Given the description of an element on the screen output the (x, y) to click on. 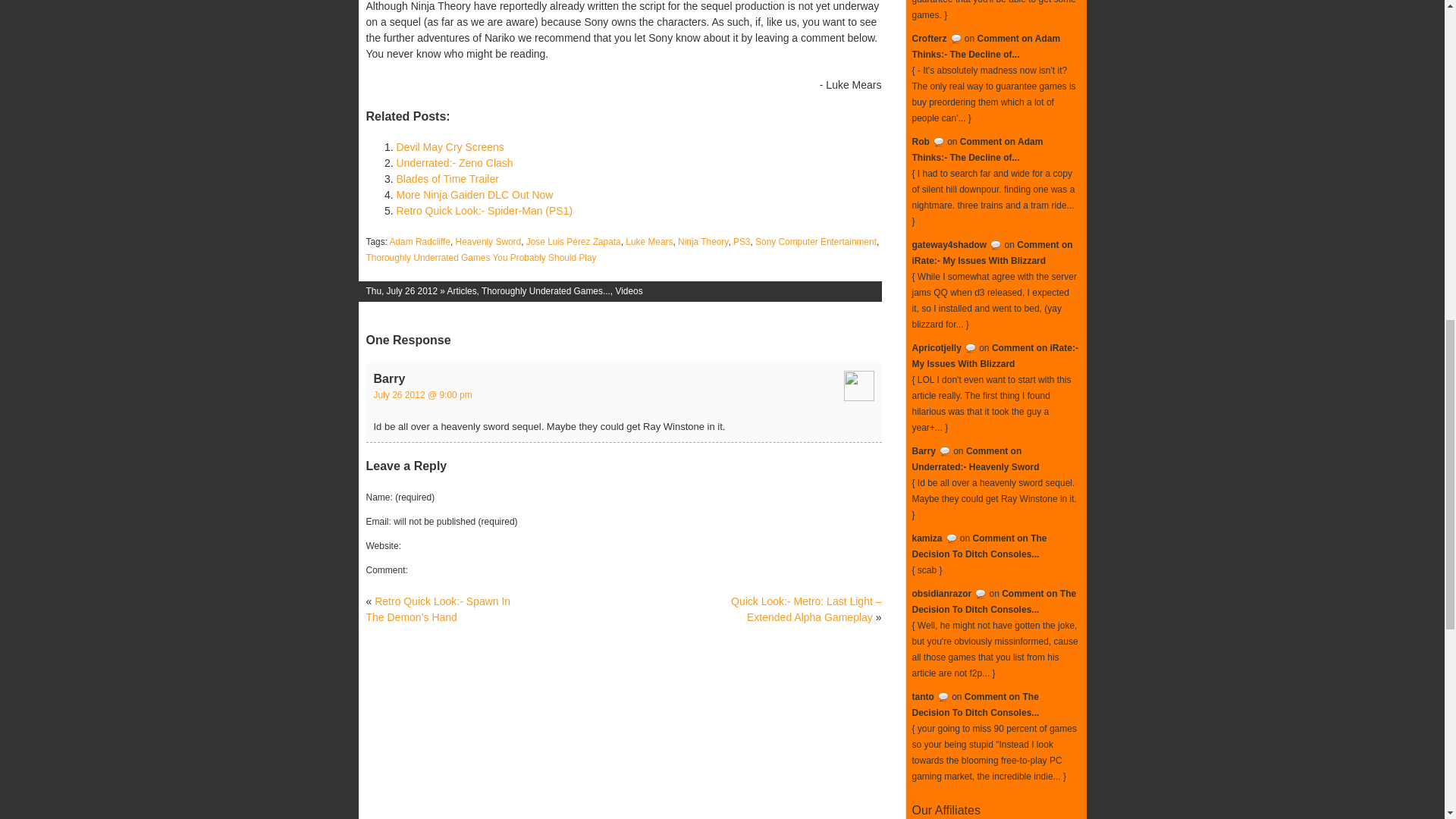
Ninja Theory (703, 241)
Thoroughly Underated Games... (545, 290)
View all posts in Videos (628, 290)
Adam Radcliffe (419, 241)
Sony Computer Entertainment (815, 241)
Articles (461, 290)
Underrated:- Zeno Clash (454, 162)
Devil May Cry Screens (449, 146)
Blades of Time Trailer (446, 178)
Heavenly Sword (488, 241)
Luke Mears (649, 241)
Videos (628, 290)
Thoroughly Underrated Games You Probably Should Play (480, 257)
View all posts in Articles (461, 290)
View all posts in Thoroughly Underated Games... (545, 290)
